Given the description of an element on the screen output the (x, y) to click on. 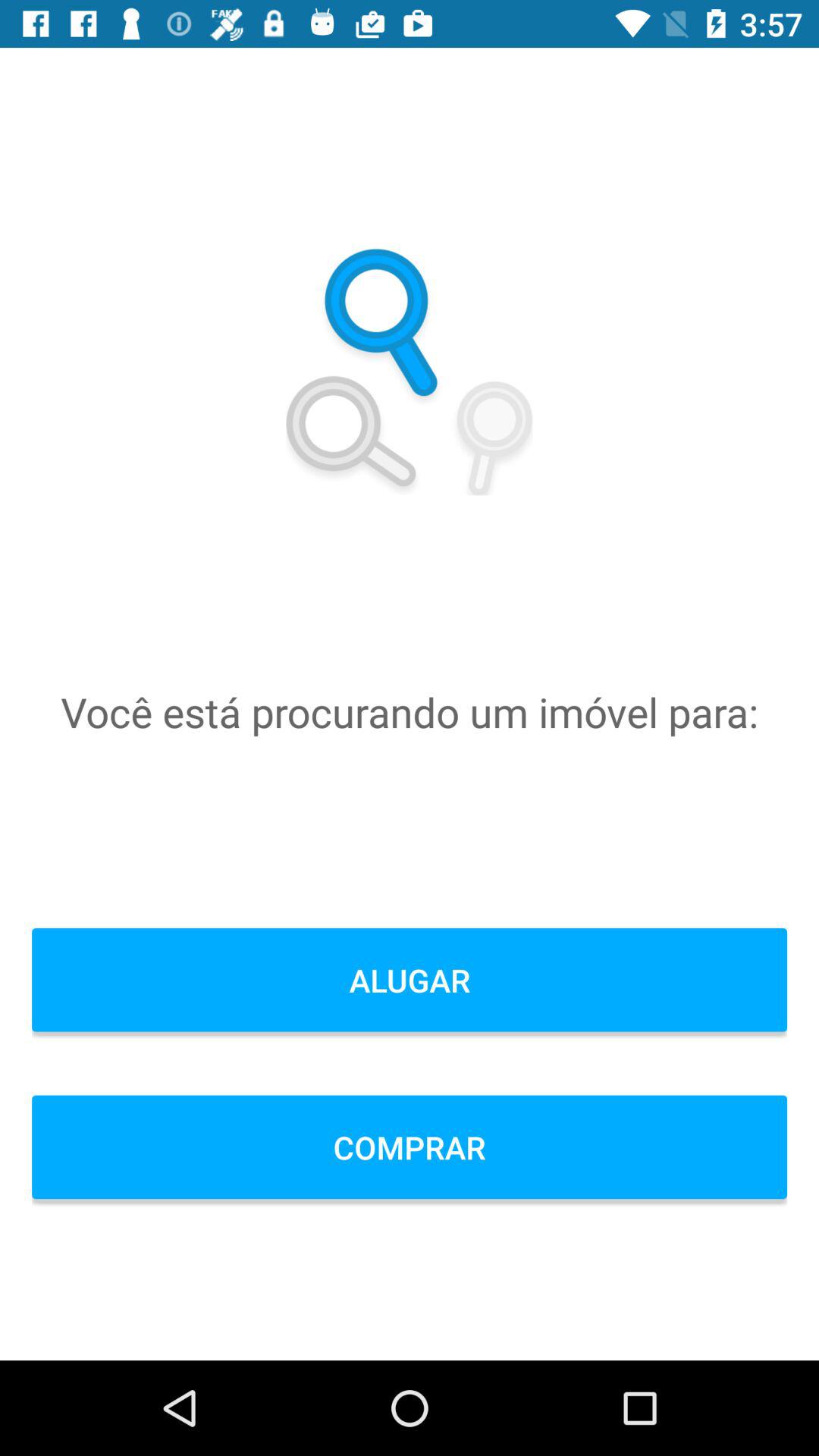
launch the icon below the alugar (409, 1146)
